Given the description of an element on the screen output the (x, y) to click on. 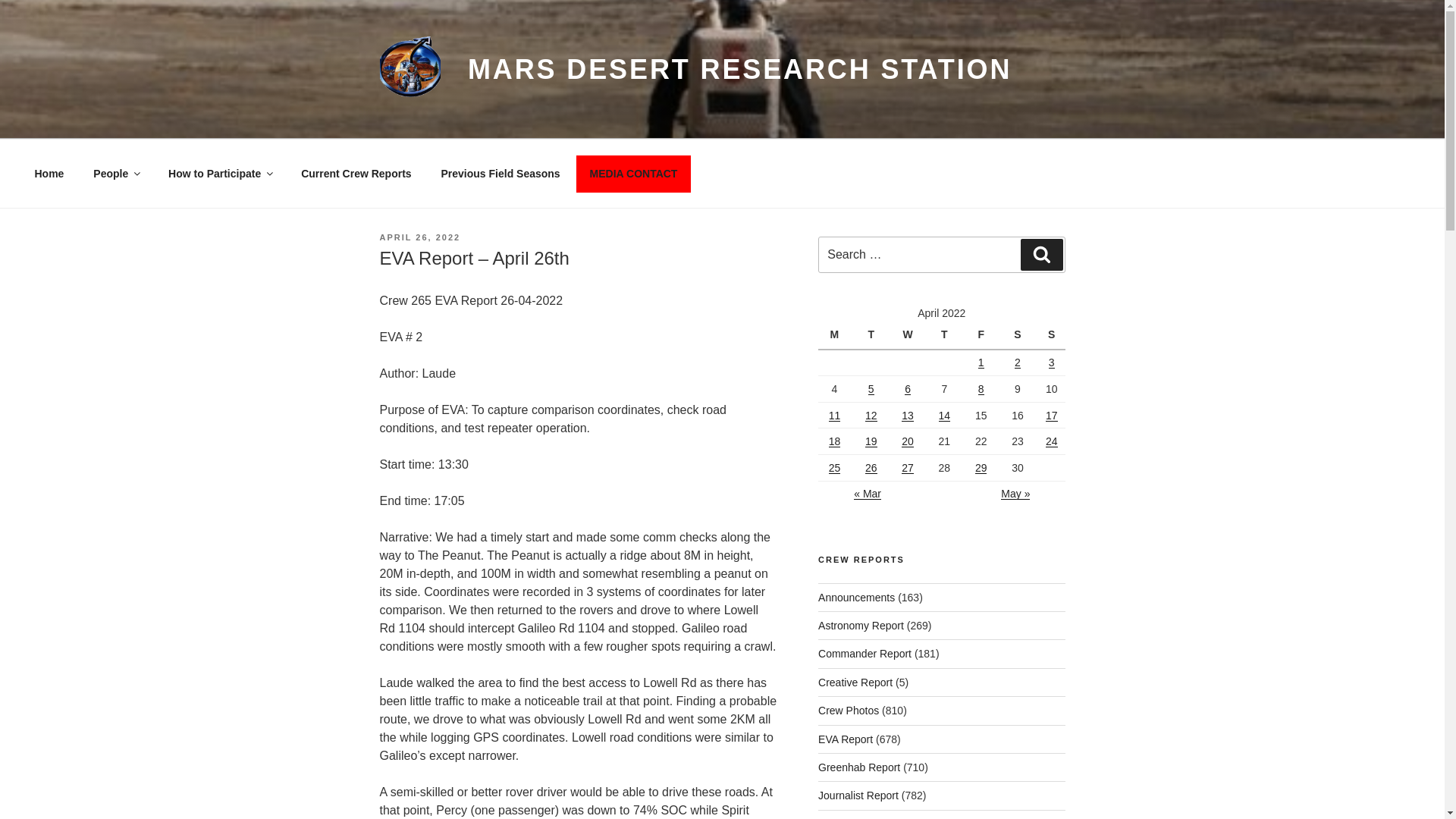
Wednesday (909, 335)
18 (834, 440)
2 (1017, 362)
Previous Field Seasons (500, 172)
6 (907, 388)
Sunday (1051, 335)
Tuesday (872, 335)
Search (1041, 255)
Thursday (945, 335)
Friday (982, 335)
17 (1051, 415)
Monday (836, 335)
People (116, 172)
3 (1051, 362)
Home (49, 172)
